Given the description of an element on the screen output the (x, y) to click on. 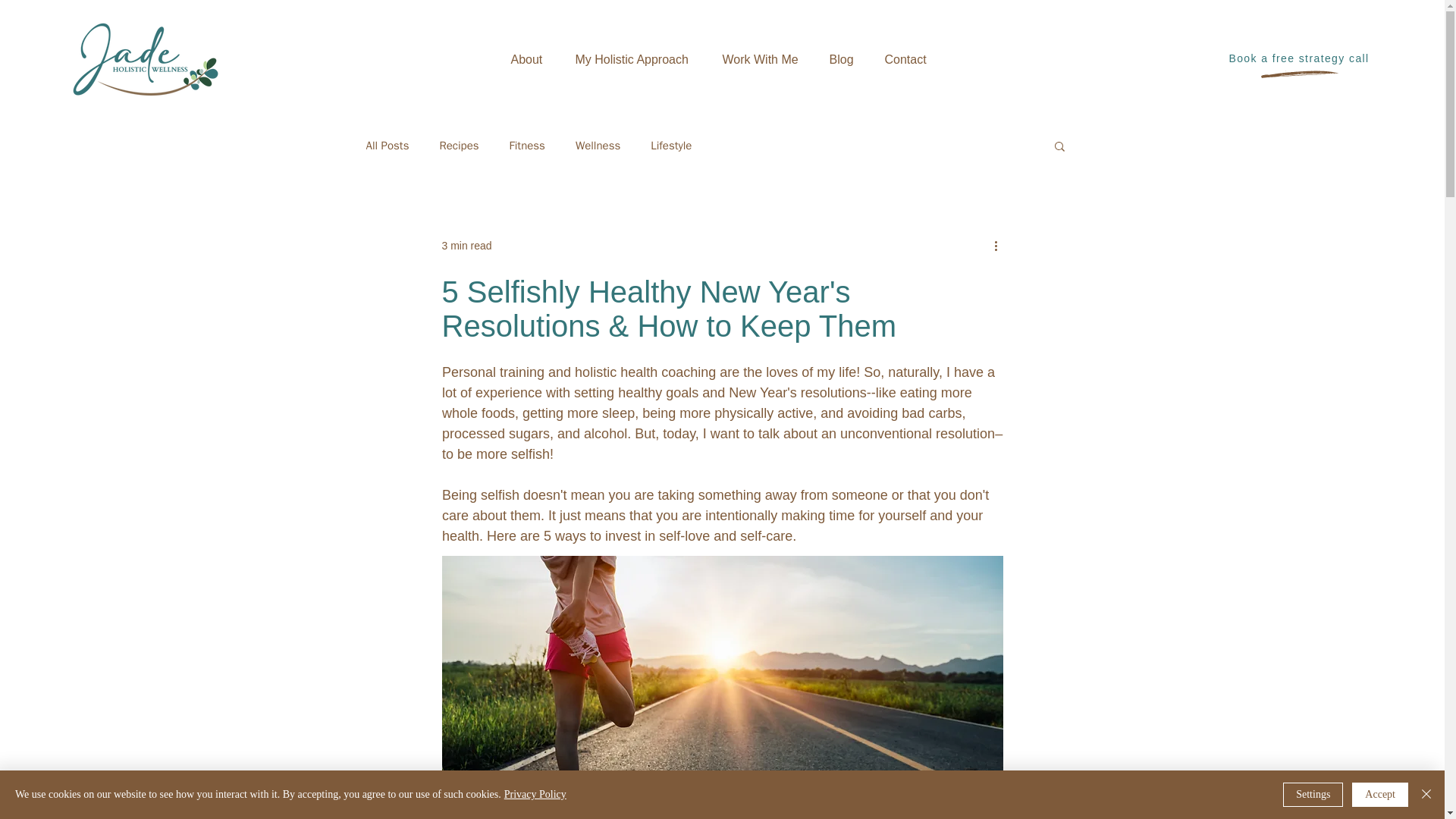
Book a free strategy call (1299, 58)
Blog (844, 59)
My Holistic Approach (637, 59)
All Posts (387, 145)
Wellness (597, 145)
Contact (908, 59)
3 min read (466, 245)
Work With Me (764, 59)
Lifestyle (670, 145)
Recipes (459, 145)
